Given the description of an element on the screen output the (x, y) to click on. 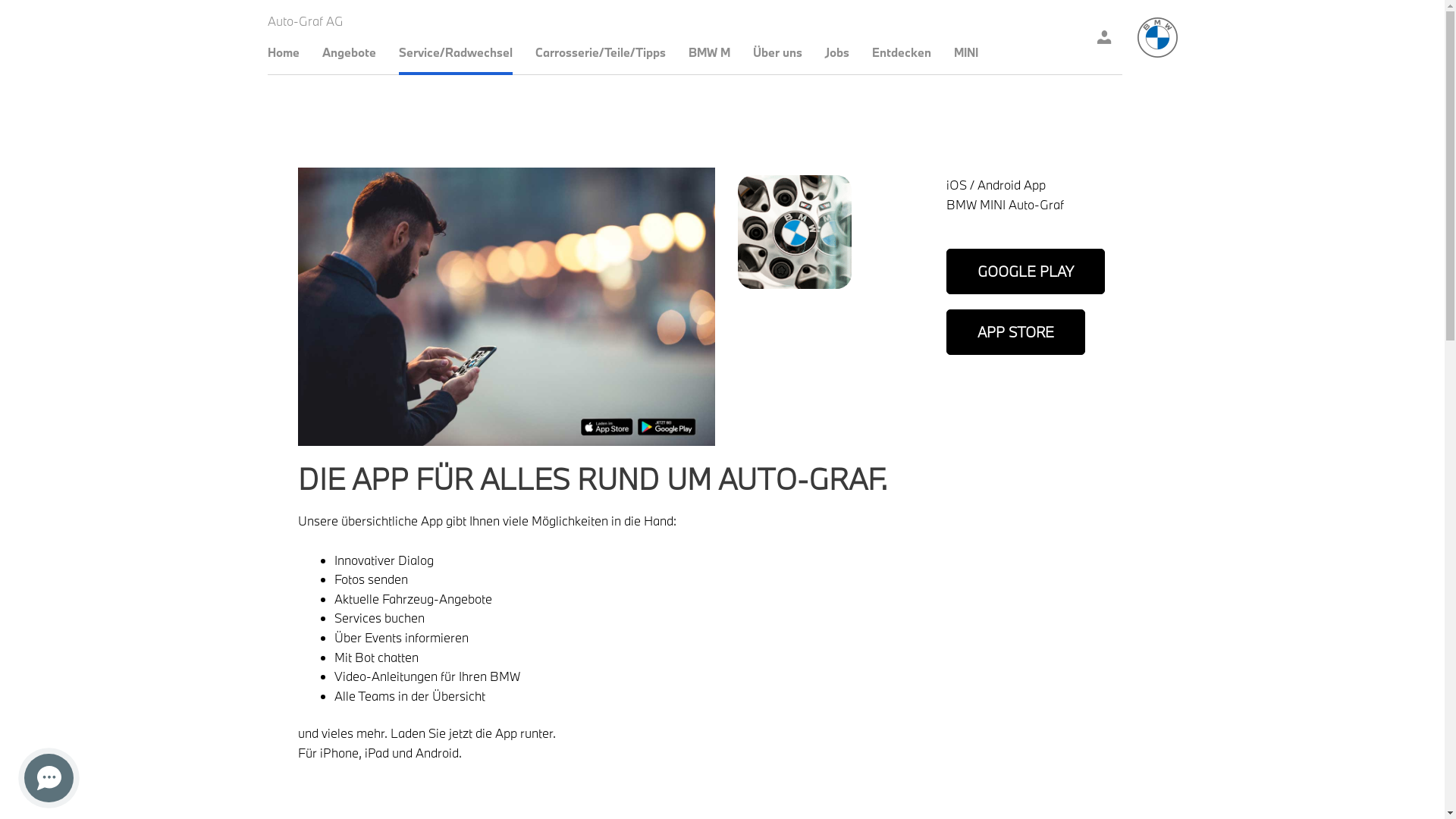
Jobs Element type: text (837, 51)
Entdecken Element type: text (901, 51)
Skip to main content Element type: text (0, 0)
Angebote Element type: text (348, 51)
Shopping Tool Element type: text (1103, 37)
MINI Element type: text (965, 51)
Service/Radwechsel Element type: text (455, 51)
BMW M Element type: text (709, 51)
Home Element type: hover (1157, 37)
Carrosserie/Teile/Tipps Element type: text (600, 51)
Home Element type: text (282, 51)
